Given the description of an element on the screen output the (x, y) to click on. 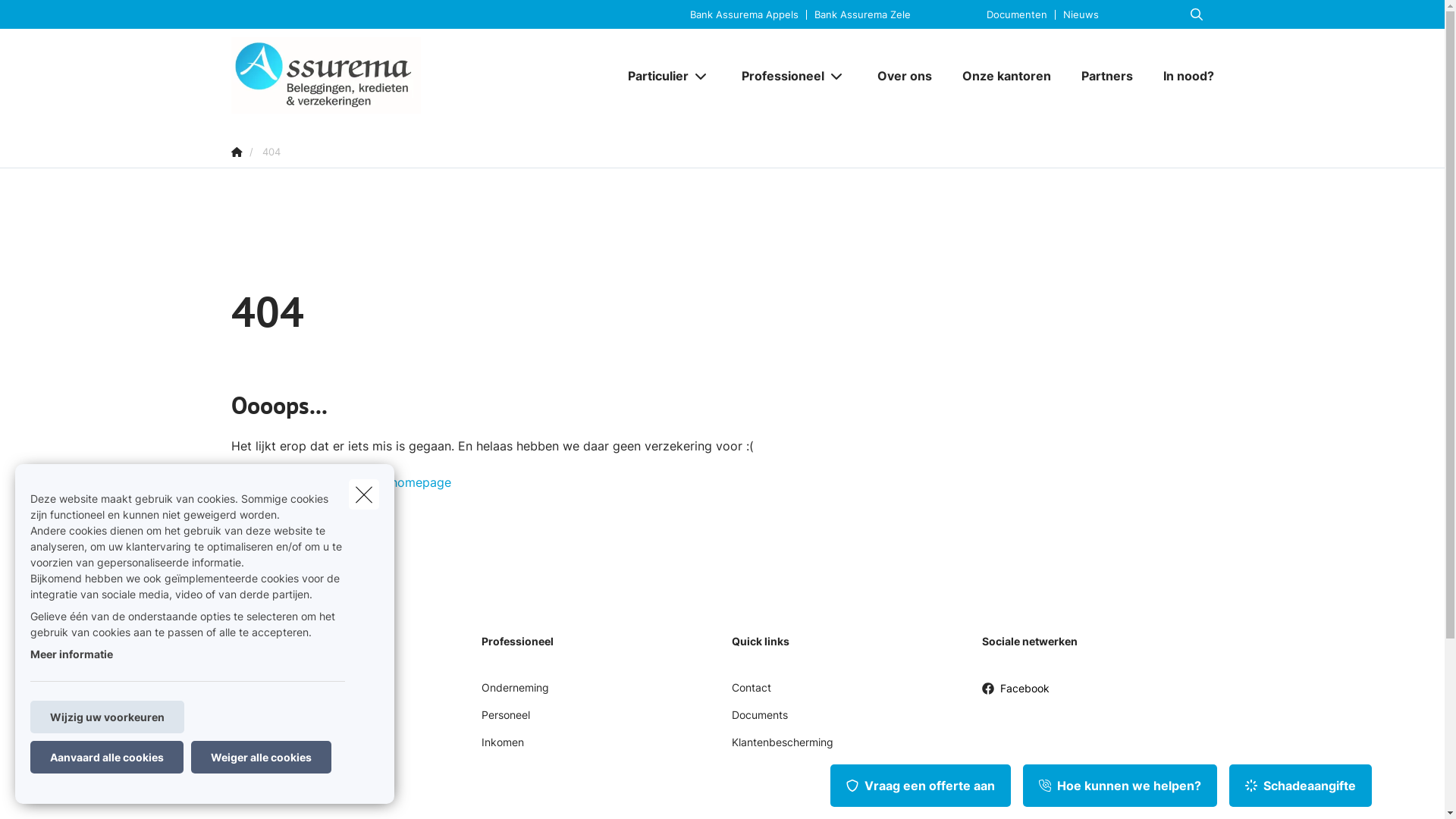
homepage Element type: text (419, 481)
Onderneming Element type: text (514, 692)
Bank Assurema Appels Element type: text (744, 13)
Gezin en rechtsbijstand Element type: text (288, 747)
Onze kantoren Element type: text (1005, 75)
Meer informatie Element type: text (71, 653)
Zoeken Element type: text (42, 18)
Professioneel Element type: text (777, 75)
Personeel Element type: text (504, 720)
Hoe kunnen we helpen? Element type: text (1119, 785)
Bank Assurema Zele Element type: text (861, 13)
Woning Element type: text (248, 720)
Facebook Element type: text (1014, 694)
Sparen en beleggen Element type: text (280, 801)
Klantenbescherming Element type: text (781, 747)
Inkomen Element type: text (501, 747)
Nieuws Element type: text (1079, 13)
Aanvaard alle cookies Element type: text (106, 756)
Vraag een offerte aan Element type: text (920, 785)
Partners Element type: text (1107, 75)
Mobiliteit Element type: text (252, 692)
Hospitalisatie Element type: text (263, 774)
Particulier Element type: text (652, 75)
Documenten Element type: text (1016, 13)
Schadeaangifte Element type: text (1300, 785)
Weiger alle cookies Element type: text (261, 756)
In nood? Element type: text (1181, 75)
Documents Element type: text (759, 720)
Wijzig uw voorkeuren Element type: text (107, 716)
Contact Element type: text (750, 692)
Over ons Element type: text (903, 75)
